Given the description of an element on the screen output the (x, y) to click on. 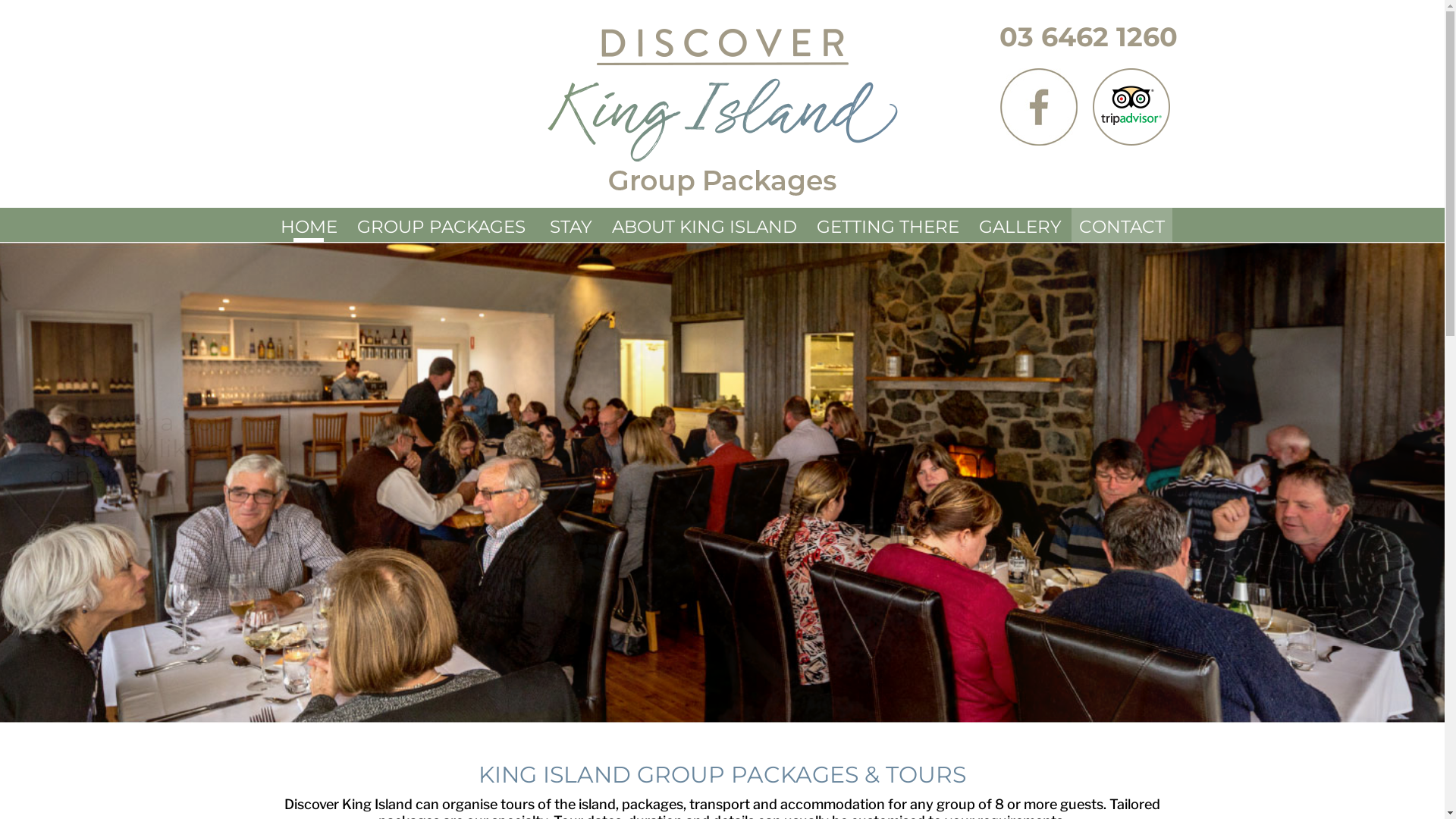
GETTING THERE Element type: text (886, 224)
STAY Element type: text (570, 224)
ABOUT KING ISLAND Element type: text (703, 224)
HOME Element type: text (308, 224)
GROUP PACKAGES Element type: text (442, 224)
GALLERY Element type: text (1019, 224)
CONTACT Element type: text (1121, 224)
03 6462 1260 Element type: text (1088, 36)
FIND OUT MORE Element type: text (125, 522)
